Given the description of an element on the screen output the (x, y) to click on. 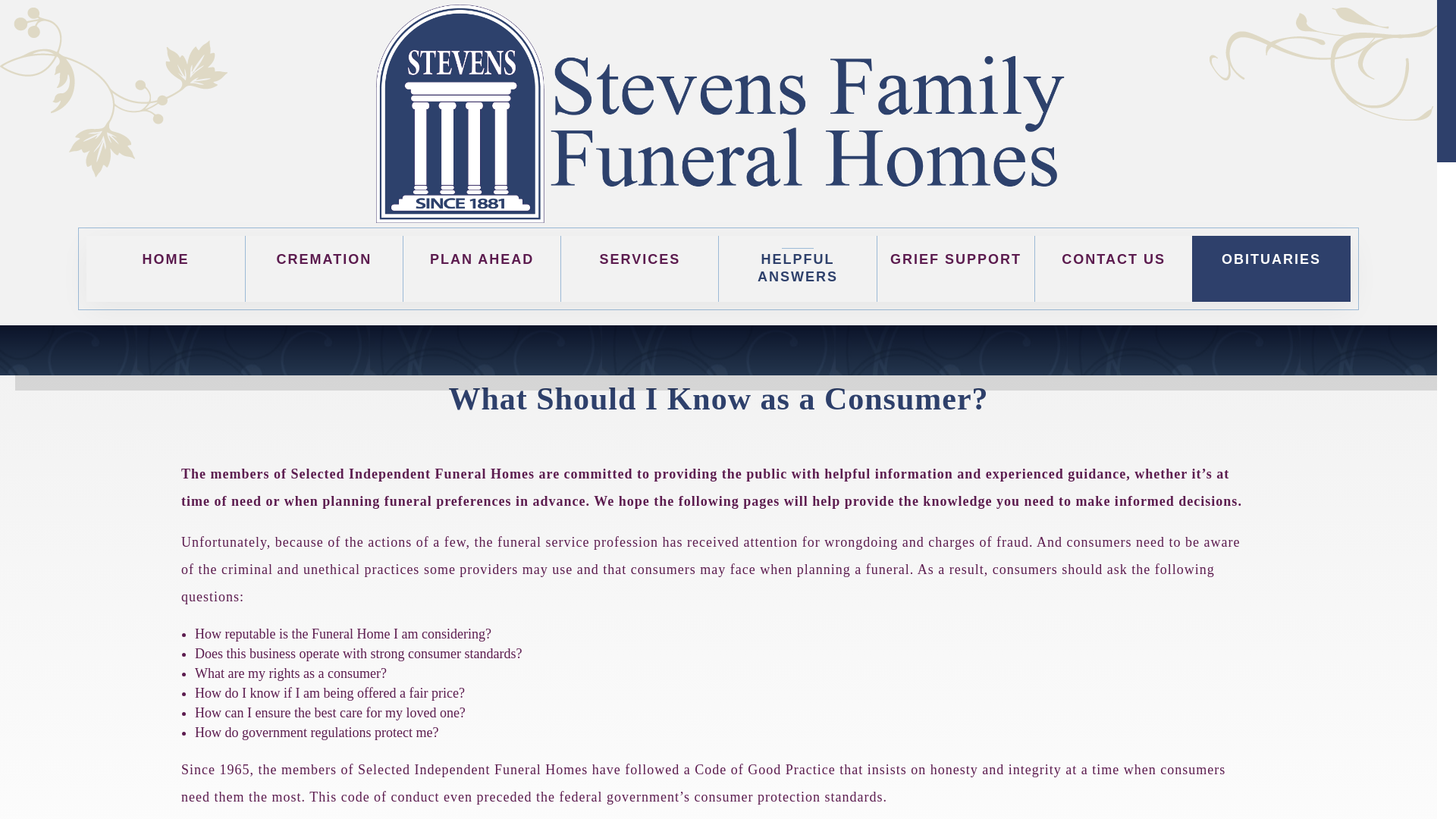
OBITUARIES (1270, 268)
CONTACT US (1112, 268)
HOME (164, 268)
SERVICES (638, 268)
CREMATION (323, 268)
GRIEF SUPPORT (954, 268)
HELPFUL ANSWERS (796, 268)
PLAN AHEAD (481, 268)
